Given the description of an element on the screen output the (x, y) to click on. 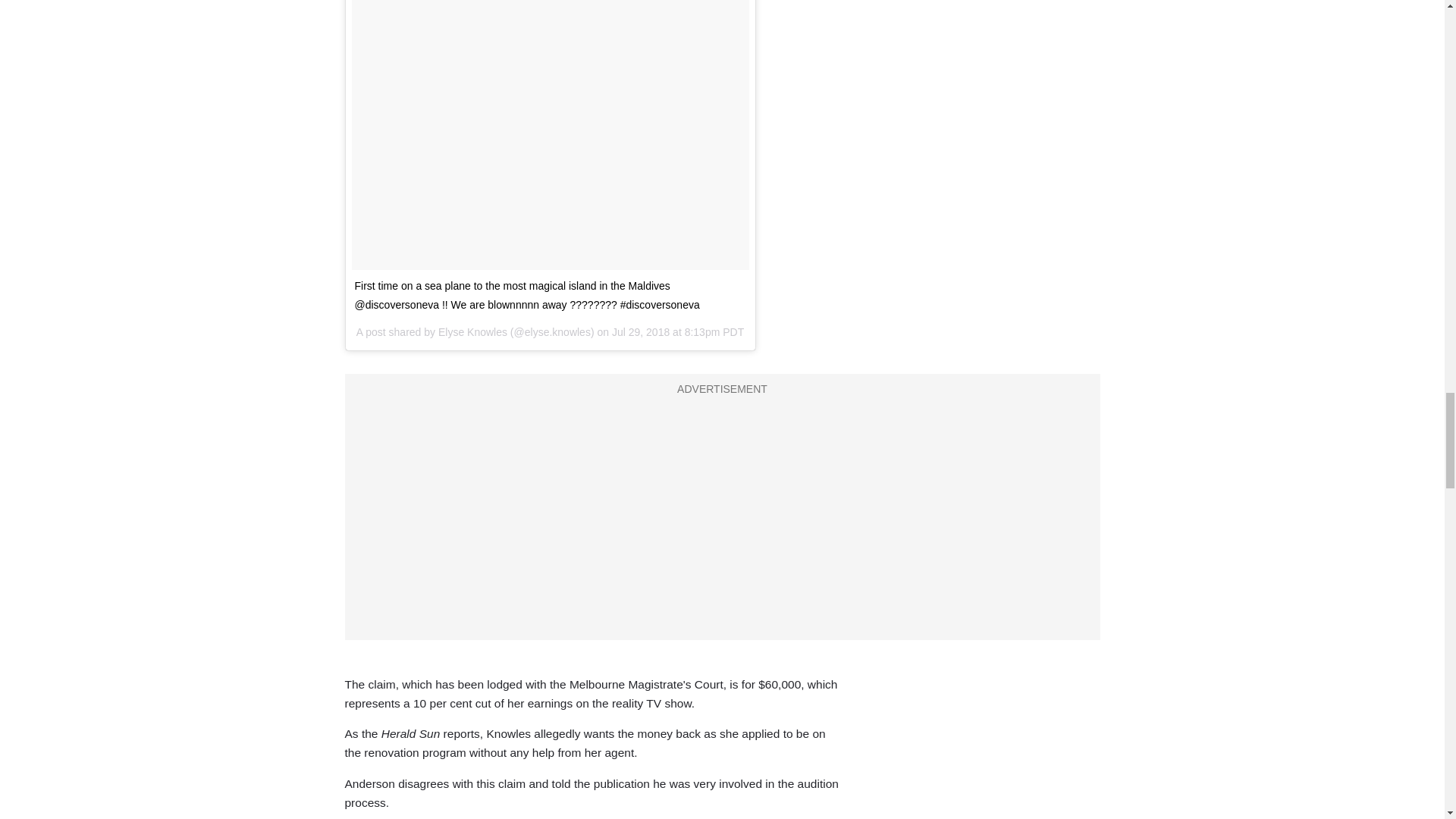
Elyse Knowles (472, 331)
